Given the description of an element on the screen output the (x, y) to click on. 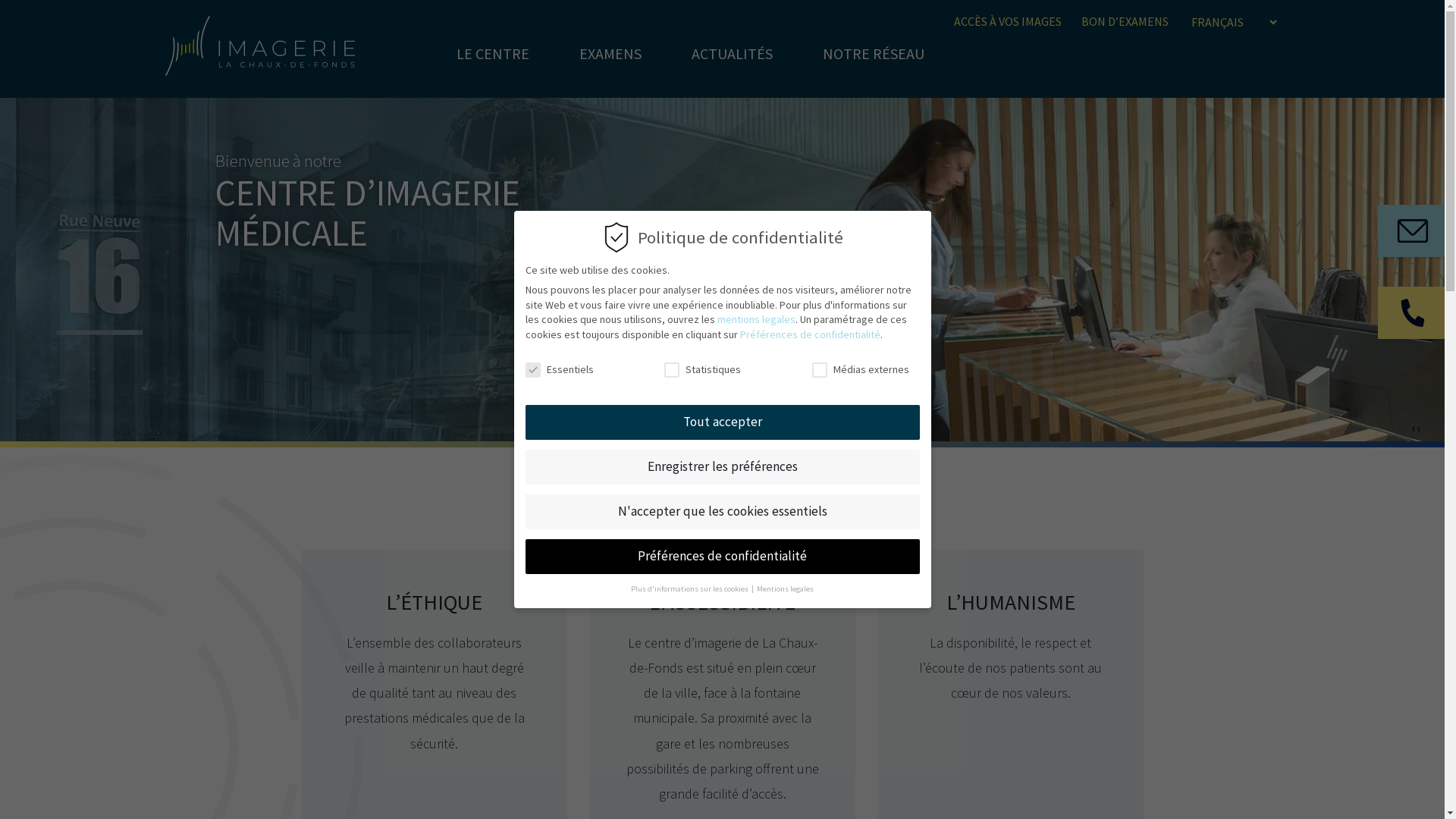
mentions legales Element type: text (756, 319)
N'accepter que les cookies essentiels Element type: text (721, 511)
Mentions legales Element type: text (784, 588)
Tout accepter Element type: text (721, 421)
LE CENTRE Element type: text (491, 53)
EXAMENS Element type: text (609, 53)
Plus d'informations sur les cookies Element type: text (689, 588)
